Given the description of an element on the screen output the (x, y) to click on. 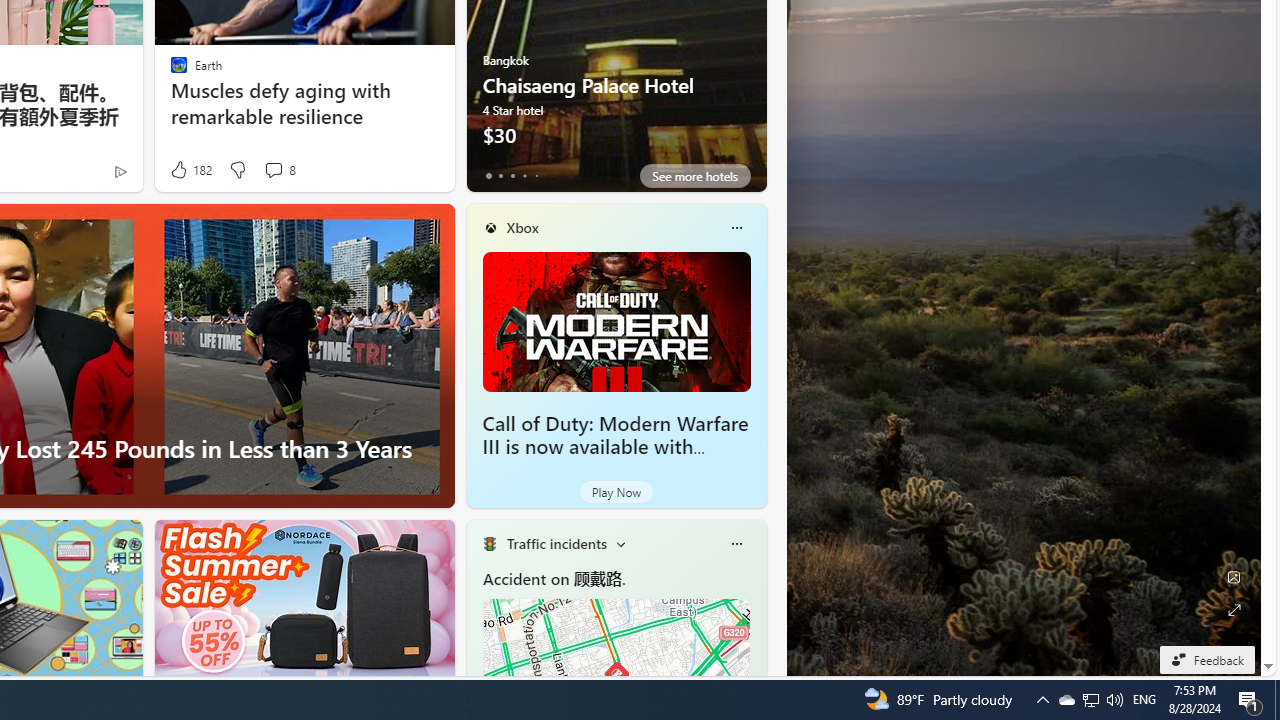
182 Like (190, 170)
Ad Choice (119, 171)
See more hotels (694, 175)
tab-3 (524, 175)
Edit Background (1233, 577)
Play Now (616, 491)
tab-1 (500, 175)
Expand background (1233, 610)
View comments 8 Comment (279, 170)
tab-2 (511, 175)
